Given the description of an element on the screen output the (x, y) to click on. 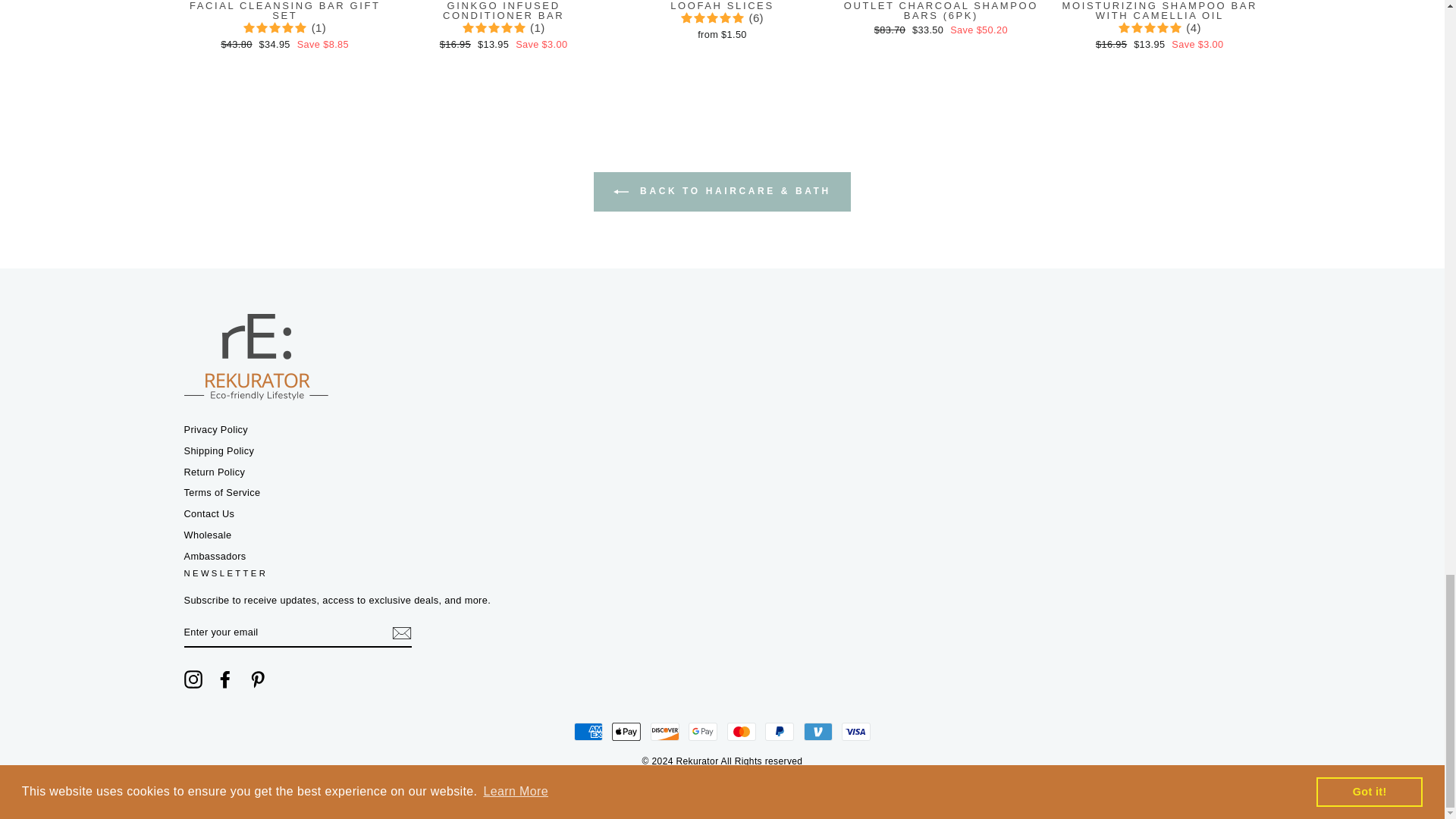
Rekurator on Instagram (192, 679)
Rekurator on Facebook (224, 679)
Rekurator on Pinterest (257, 679)
